Given the description of an element on the screen output the (x, y) to click on. 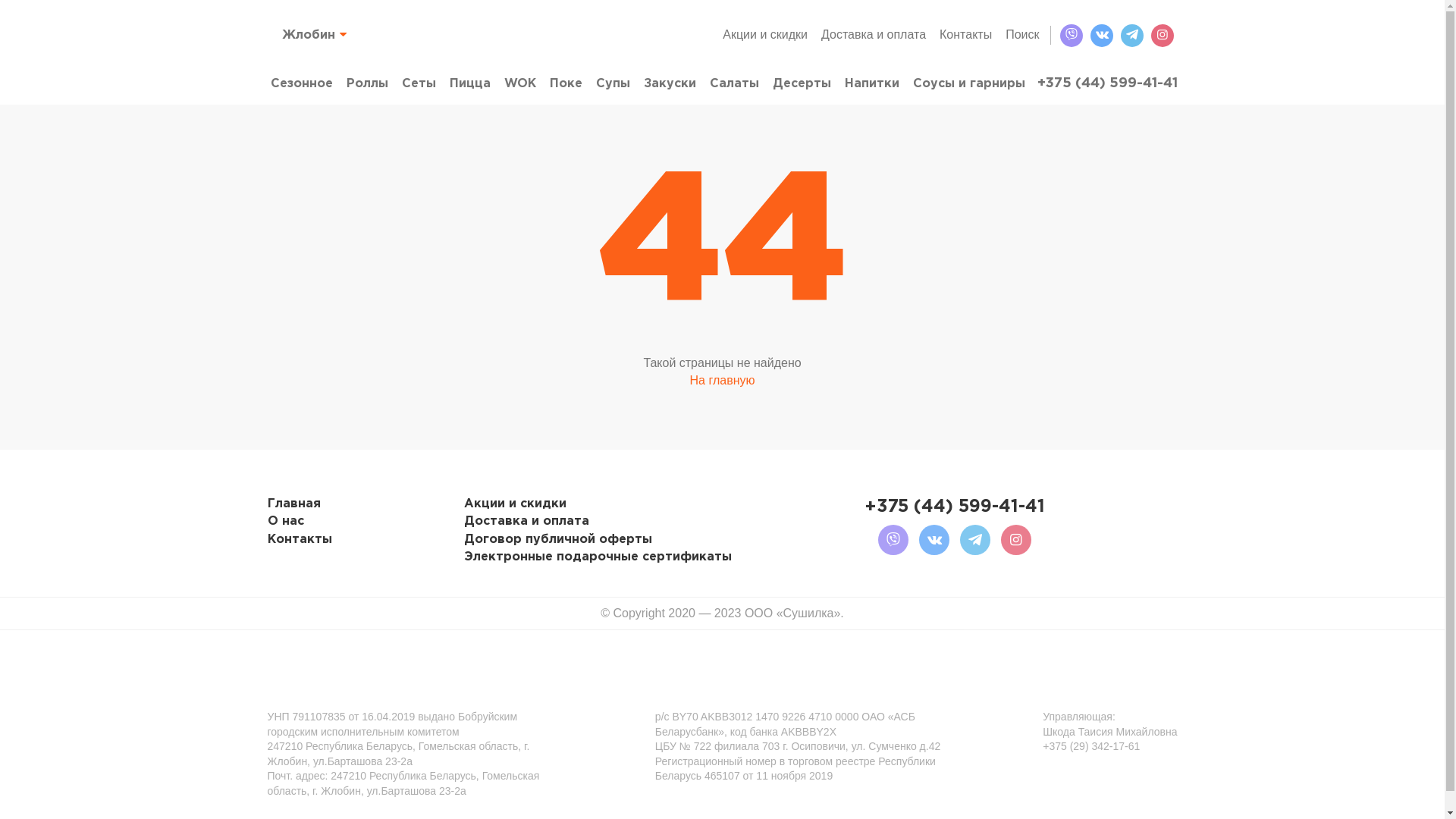
+375 (29) 342-17-61 Element type: text (1090, 746)
+375 (44) 599-41-41 Element type: text (1107, 83)
WOK Element type: text (519, 83)
+375 (44) 599-41-41 Element type: text (954, 506)
